Given the description of an element on the screen output the (x, y) to click on. 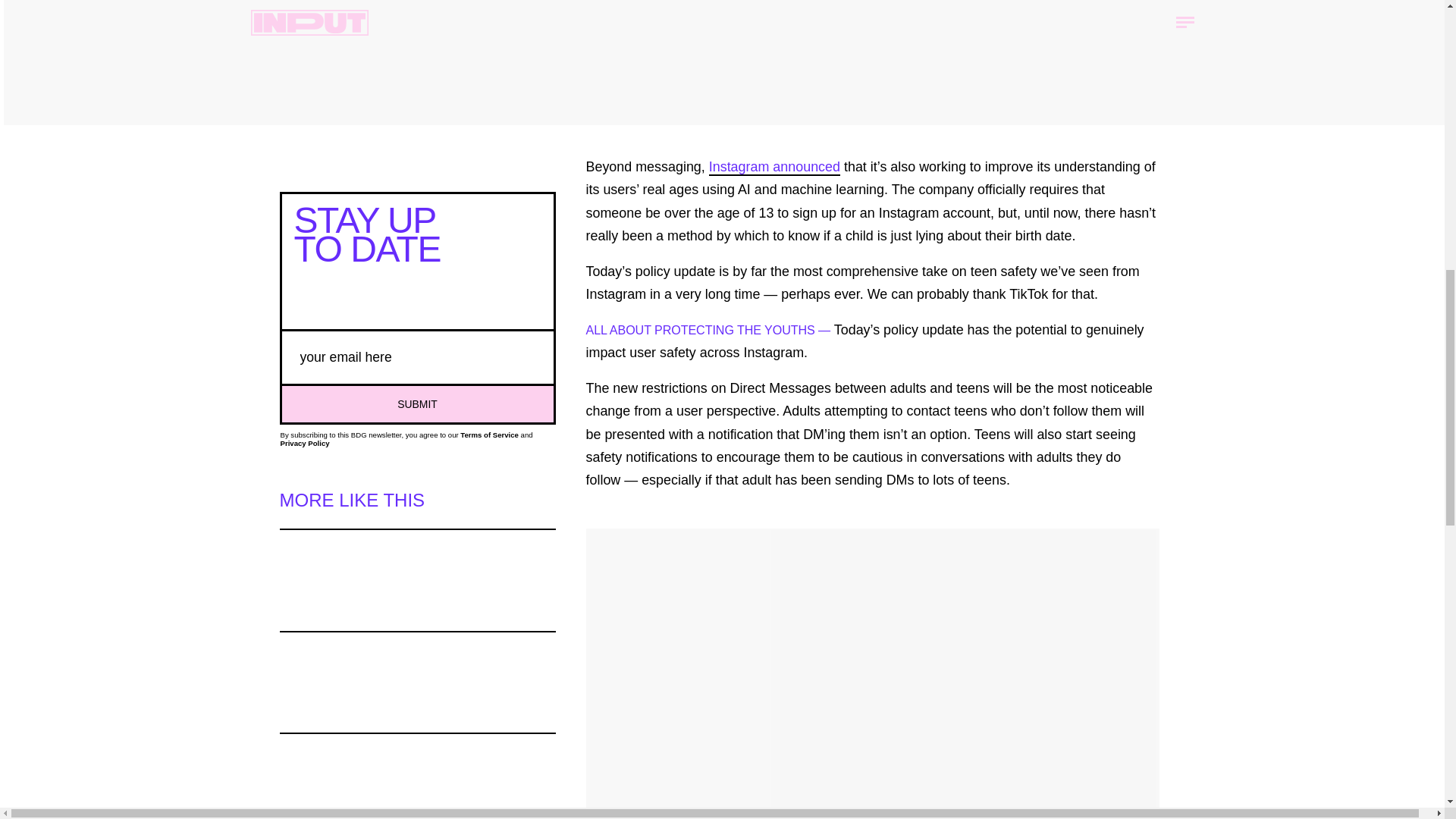
SUBMIT (417, 403)
Terms of Service (489, 434)
Privacy Policy (305, 442)
Instagram announced (774, 167)
